Given the description of an element on the screen output the (x, y) to click on. 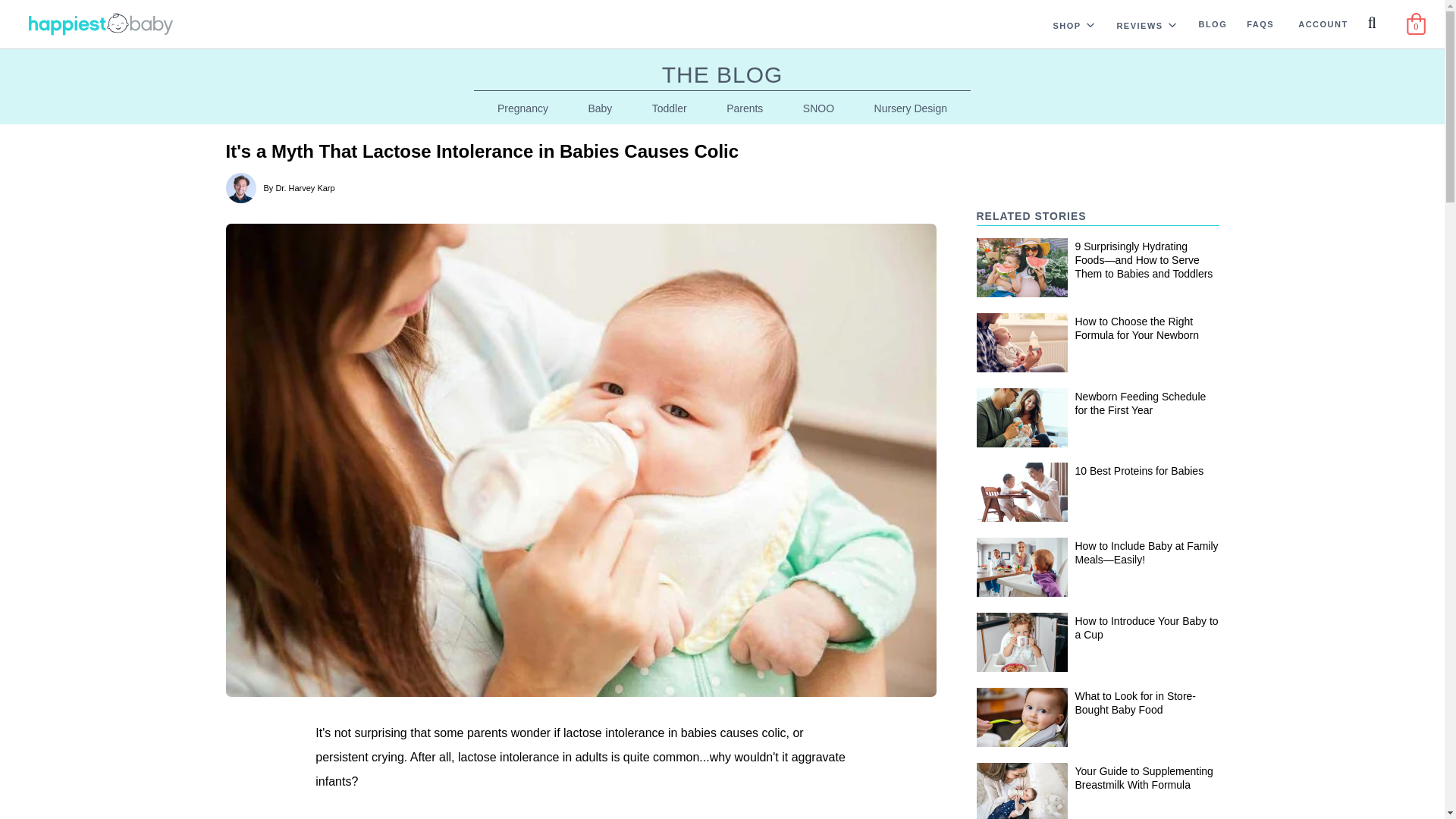
REVIEWS (1134, 24)
BLOG (1212, 22)
Expandable Navigation (1172, 24)
ACCOUNT (1322, 22)
FAQS (1260, 22)
Expandable Navigation (1090, 24)
